Given the description of an element on the screen output the (x, y) to click on. 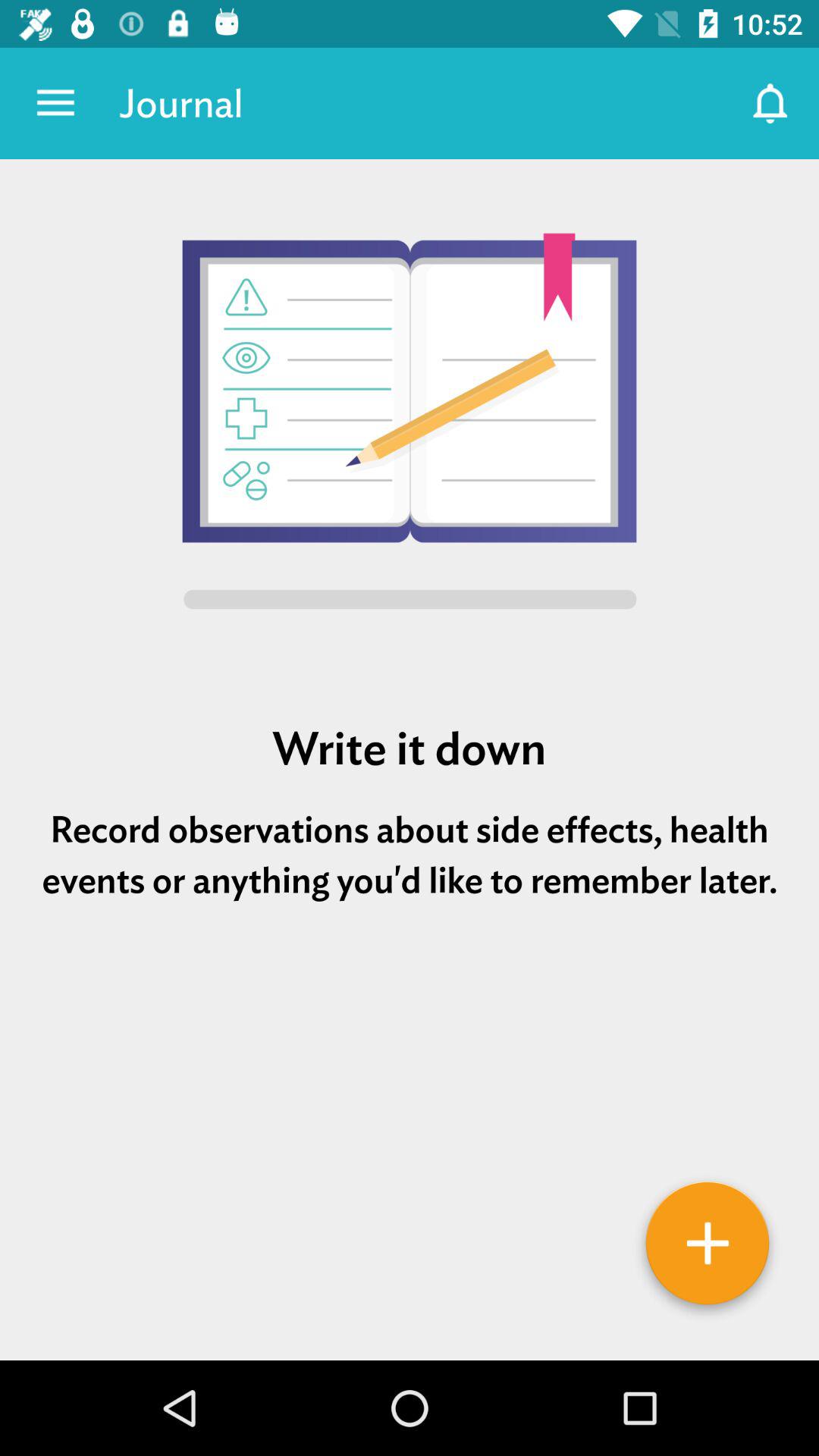
select icon above record observations about icon (409, 748)
